Given the description of an element on the screen output the (x, y) to click on. 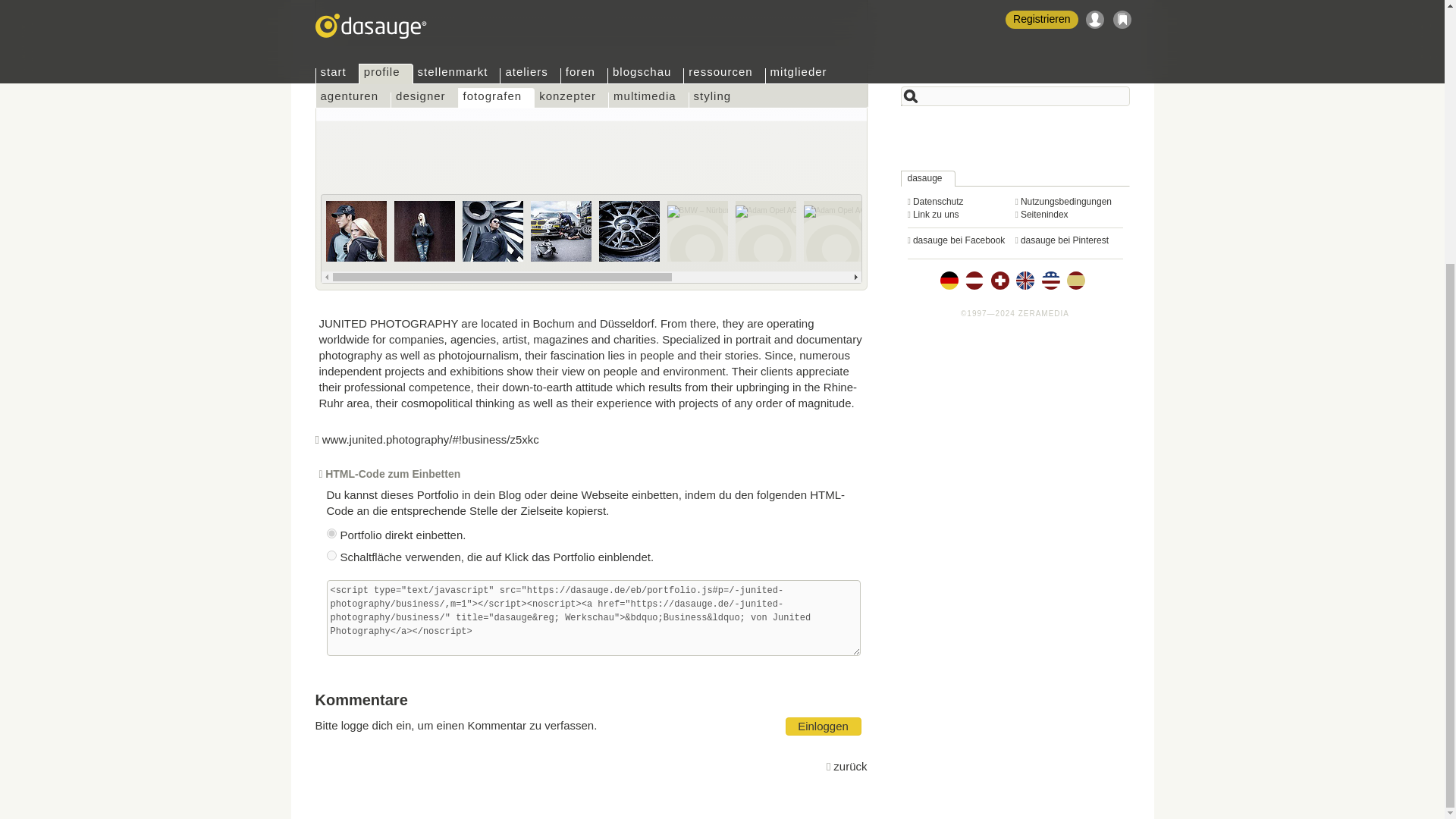
Adam Opel AG (833, 230)
Adam Opel AG (1107, 230)
0 (331, 533)
Adam Opel AG (970, 230)
1 (331, 555)
Adam Opel AG (765, 230)
Adam Opel AG (902, 230)
Adam Opel AG (1038, 230)
